Given the description of an element on the screen output the (x, y) to click on. 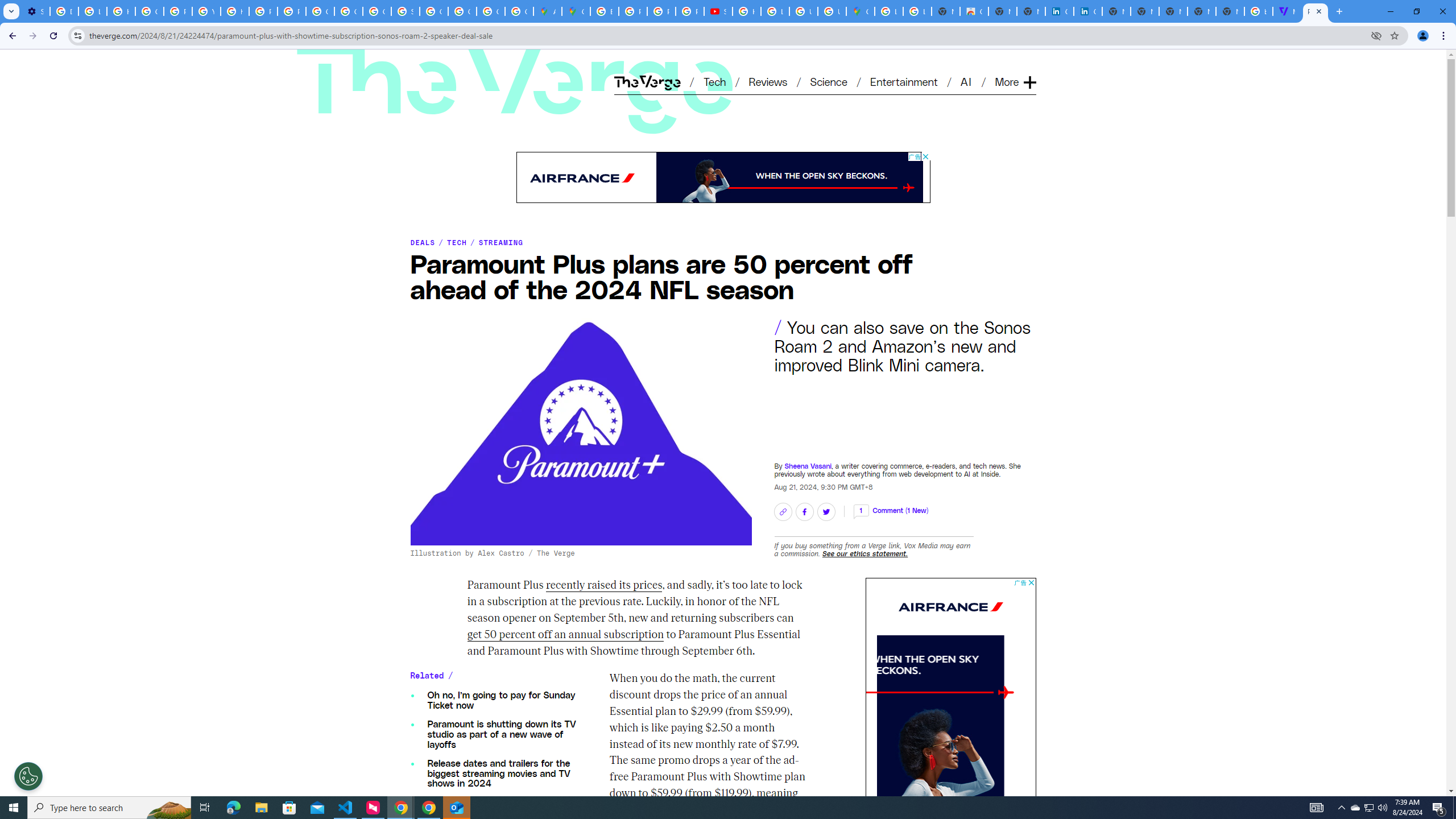
DEALS (422, 242)
recently raised its prices (604, 585)
Cookie Policy | LinkedIn (1058, 11)
TECH (456, 242)
Subscriptions - YouTube (718, 11)
https://scholar.google.com/ (234, 11)
Sheena Vasani (807, 465)
Copy link (783, 511)
See our ethics statement. (864, 553)
